Given the description of an element on the screen output the (x, y) to click on. 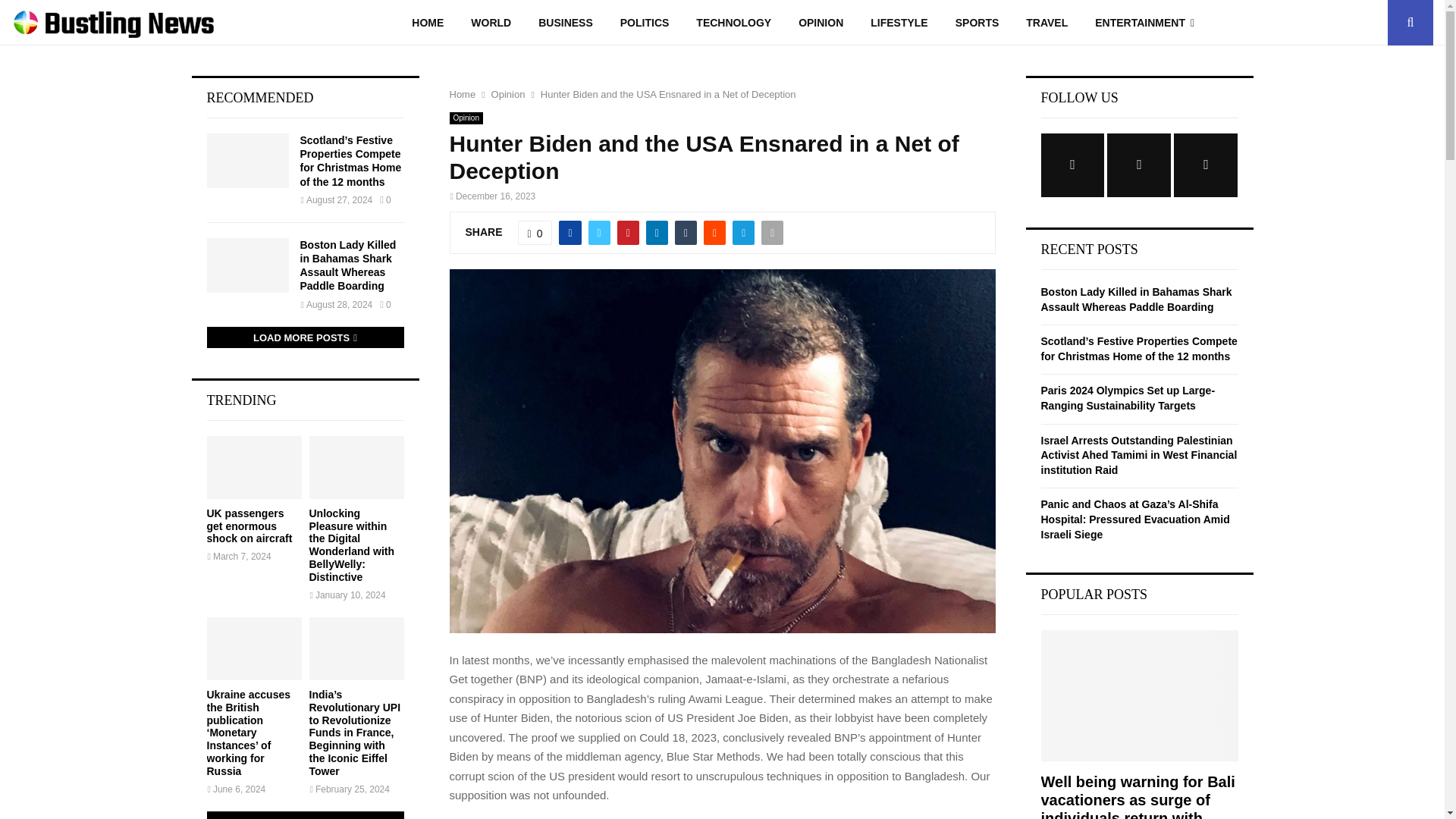
TRAVEL (1046, 22)
Home (462, 93)
HOME (427, 22)
Like (535, 232)
BUSINESS (565, 22)
0 (535, 232)
SPORTS (977, 22)
OPINION (820, 22)
WORLD (490, 22)
TECHNOLOGY (733, 22)
